Given the description of an element on the screen output the (x, y) to click on. 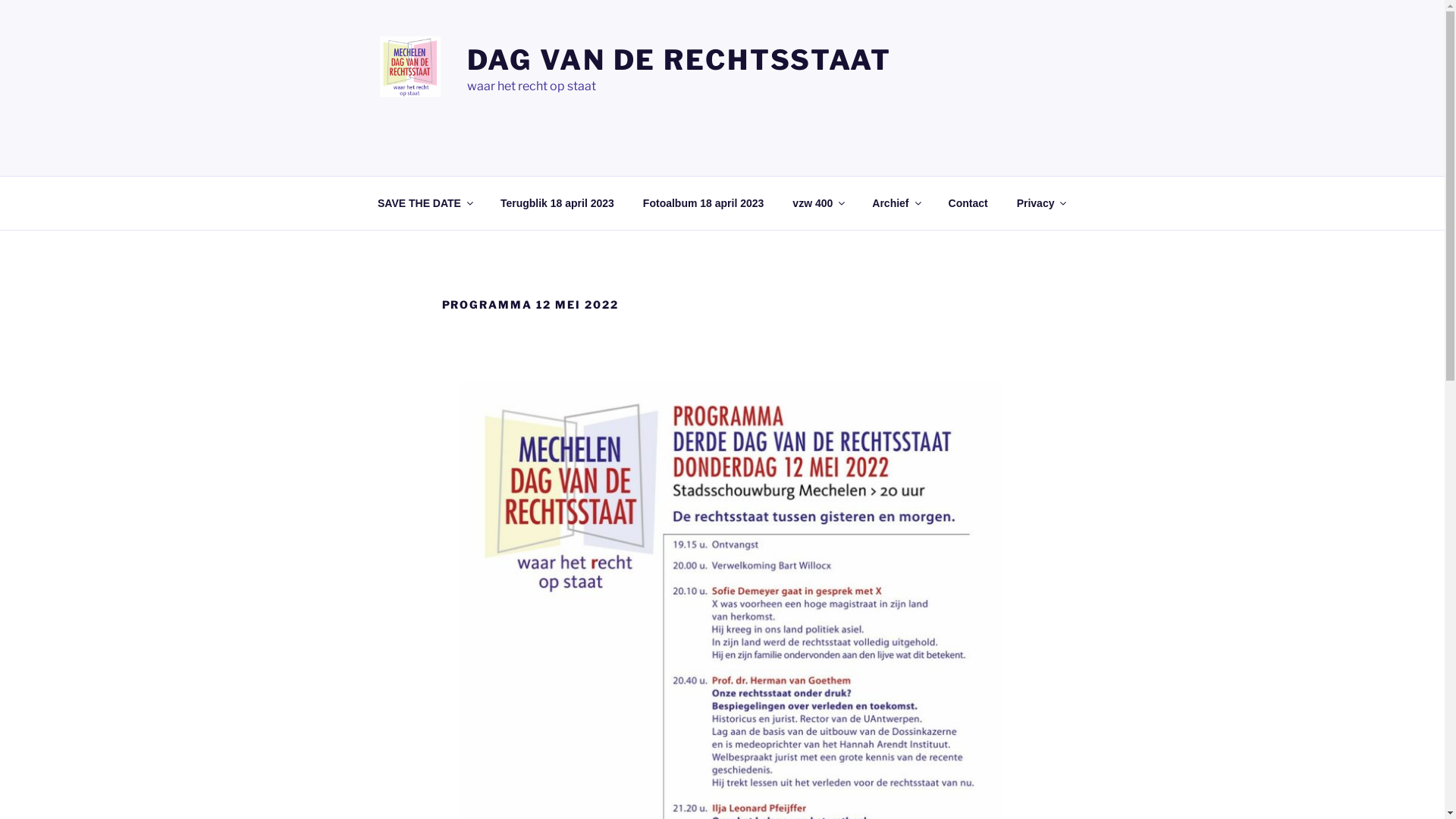
Archief Element type: text (895, 203)
SAVE THE DATE Element type: text (424, 203)
DAG VAN DE RECHTSSTAAT Element type: text (679, 59)
vzw 400 Element type: text (817, 203)
Contact Element type: text (968, 203)
Terugblik 18 april 2023 Element type: text (556, 203)
Fotoalbum 18 april 2023 Element type: text (703, 203)
Privacy Element type: text (1040, 203)
